Given the description of an element on the screen output the (x, y) to click on. 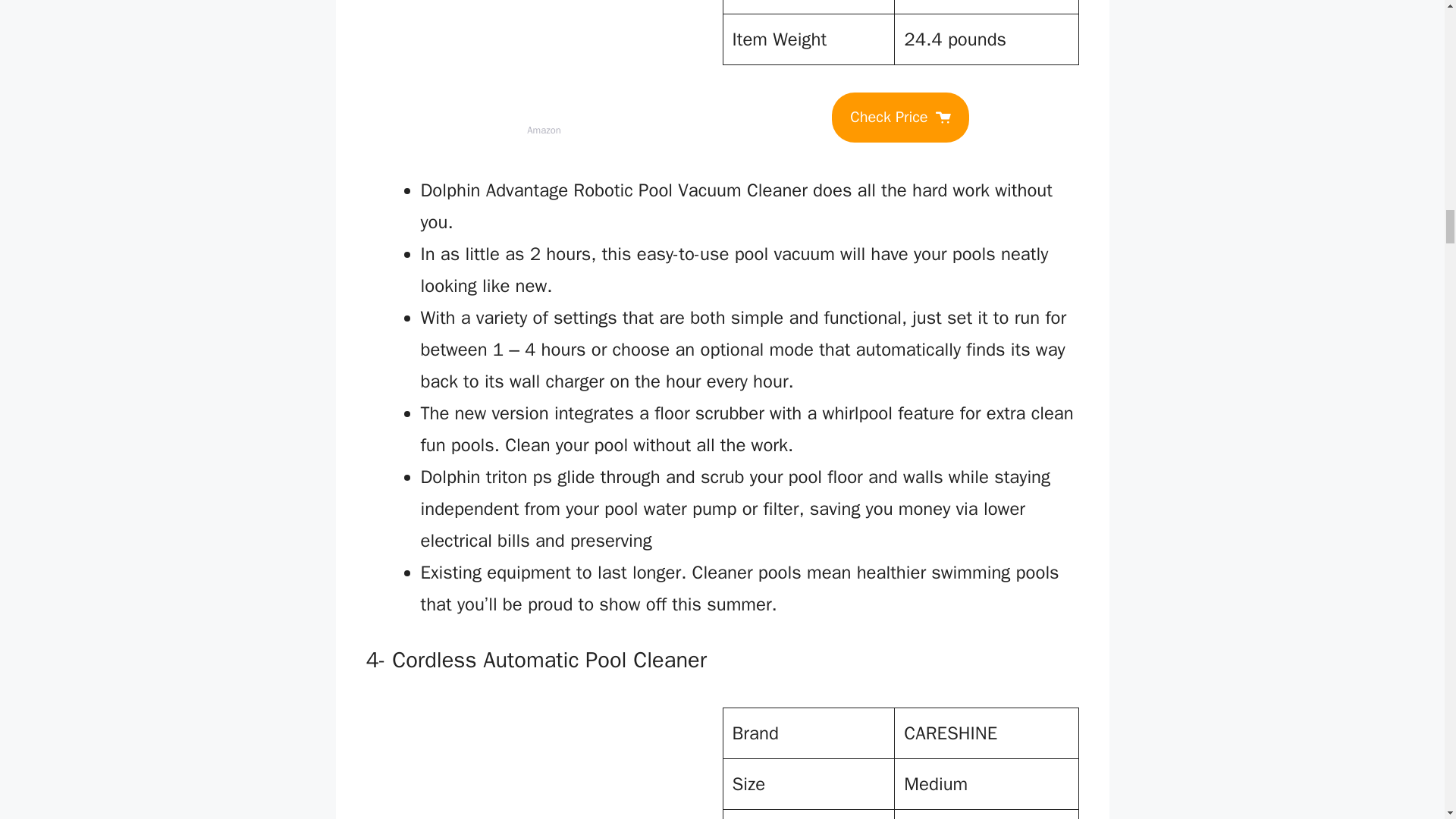
Check Price (899, 117)
